Given the description of an element on the screen output the (x, y) to click on. 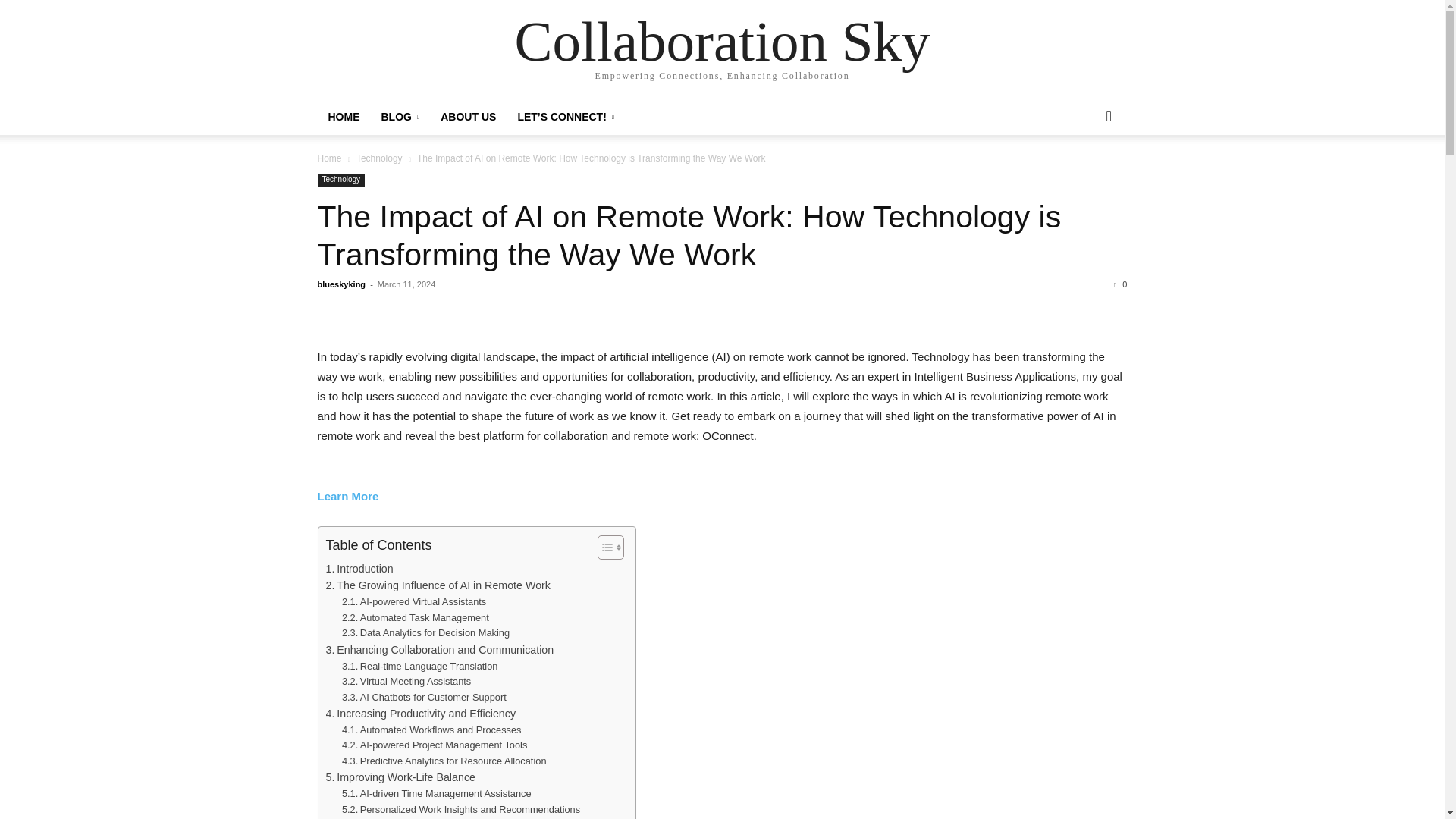
Introduction (359, 569)
ABOUT US (467, 116)
0 (1119, 284)
Virtual Meeting Assistants (406, 682)
blueskyking (341, 284)
Automated Task Management (415, 618)
BLOG (399, 116)
View all posts in Technology (379, 158)
Discover more about the Learn More. (347, 495)
Real-time Language Translation (419, 666)
